Given the description of an element on the screen output the (x, y) to click on. 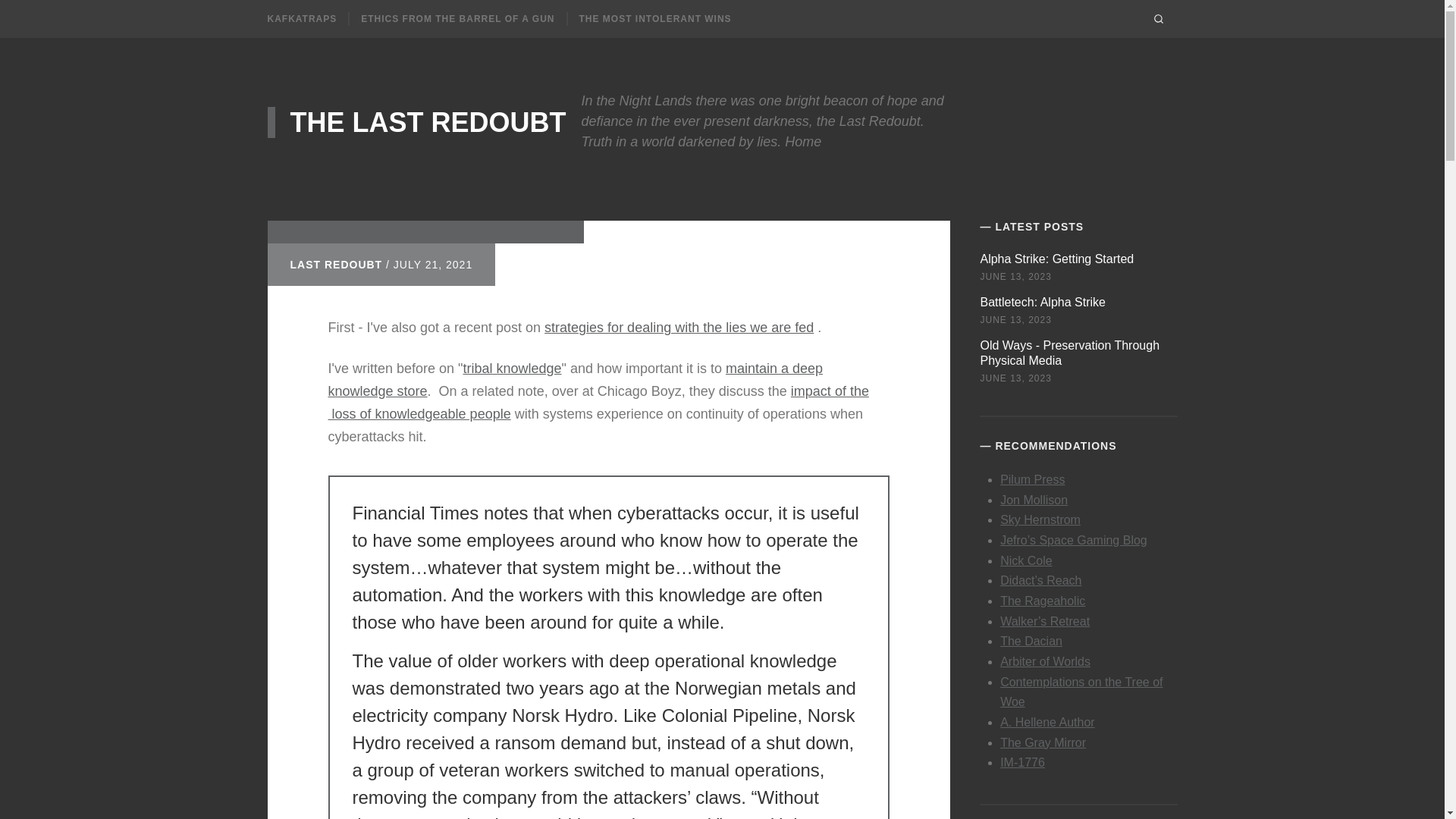
ETHICS FROM THE BARREL OF A GUN (457, 18)
THE MOST INTOLERANT WINS (655, 18)
tribal knowledge (511, 354)
The Rageaholic (1042, 600)
KAFKATRAPS (301, 18)
Battletech: Alpha Strike (1042, 299)
Old Ways - Preservation Through Physical Media (1068, 350)
Nick Cole (1025, 559)
Arbiter of Worlds (1045, 661)
IM-1776 (1022, 762)
The Gray Mirror (1043, 742)
Pilum Press (1032, 477)
strategies for dealing with the lies we are fed (678, 313)
impact of the  loss of knowledgeable people (597, 392)
A. Hellene Author (1047, 721)
